Given the description of an element on the screen output the (x, y) to click on. 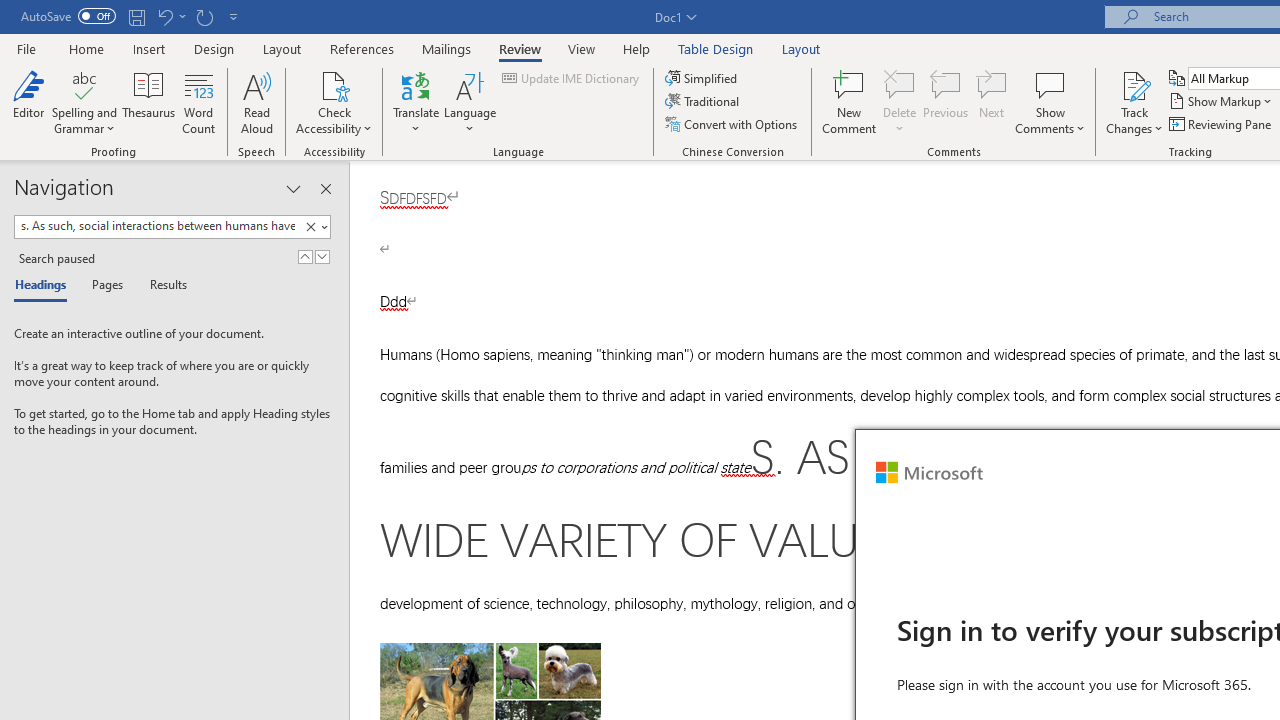
Delete (900, 102)
Track Changes (1134, 102)
Read Aloud (256, 102)
Simplified (702, 78)
Delete (900, 84)
Undo Style (164, 15)
Show Comments (1050, 84)
Update IME Dictionary... (572, 78)
Reviewing Pane (1221, 124)
Previous (946, 102)
